Given the description of an element on the screen output the (x, y) to click on. 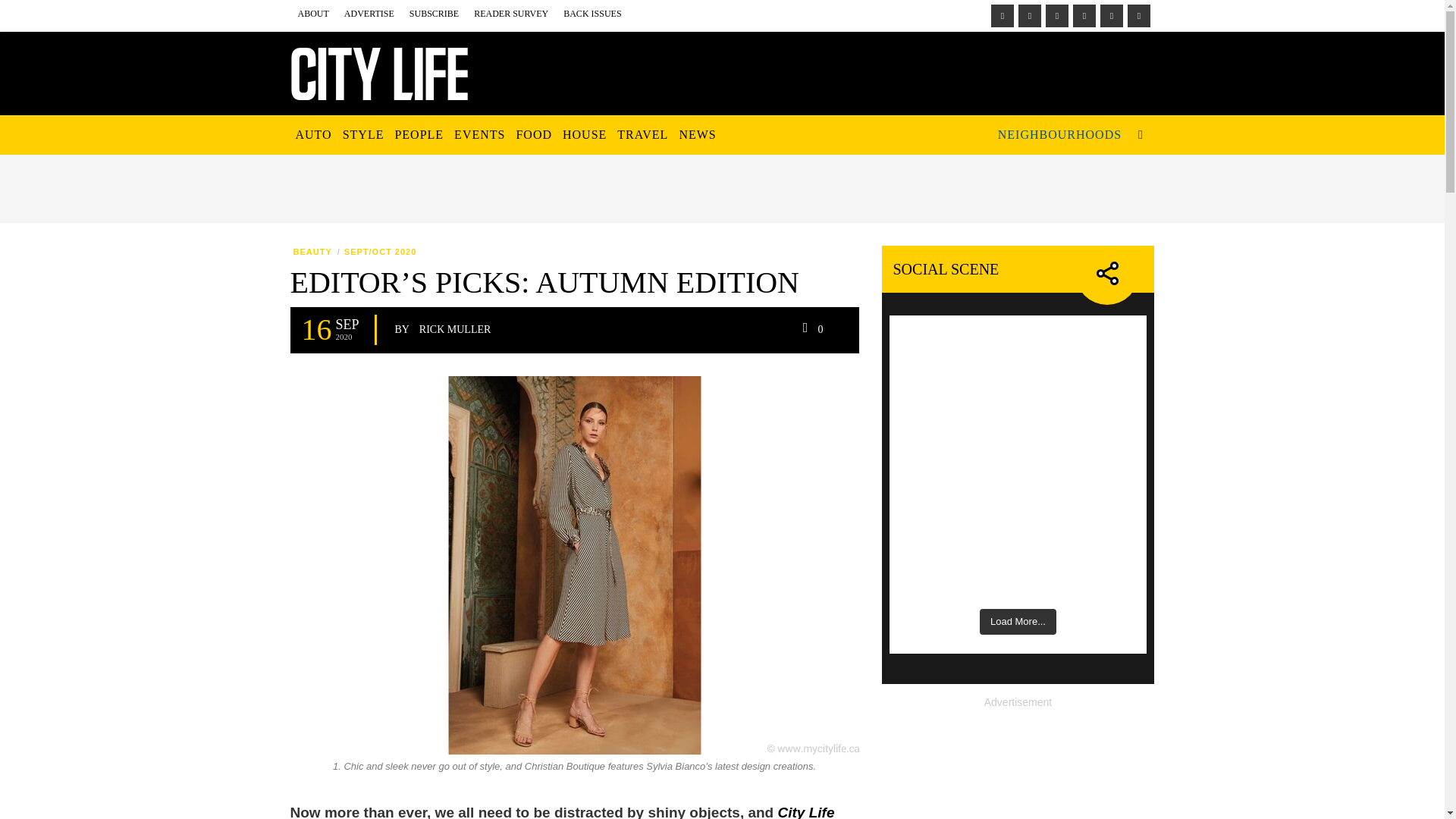
ABOUT (312, 13)
LinkedIn (1056, 15)
Facebook (1001, 15)
READER SURVEY (510, 13)
View all posts in Beauty (311, 251)
Twitter (1110, 15)
Instagram (1029, 15)
View all posts by Rick Muller (455, 328)
Youtube (1138, 15)
SUBSCRIBE (433, 13)
